Given the description of an element on the screen output the (x, y) to click on. 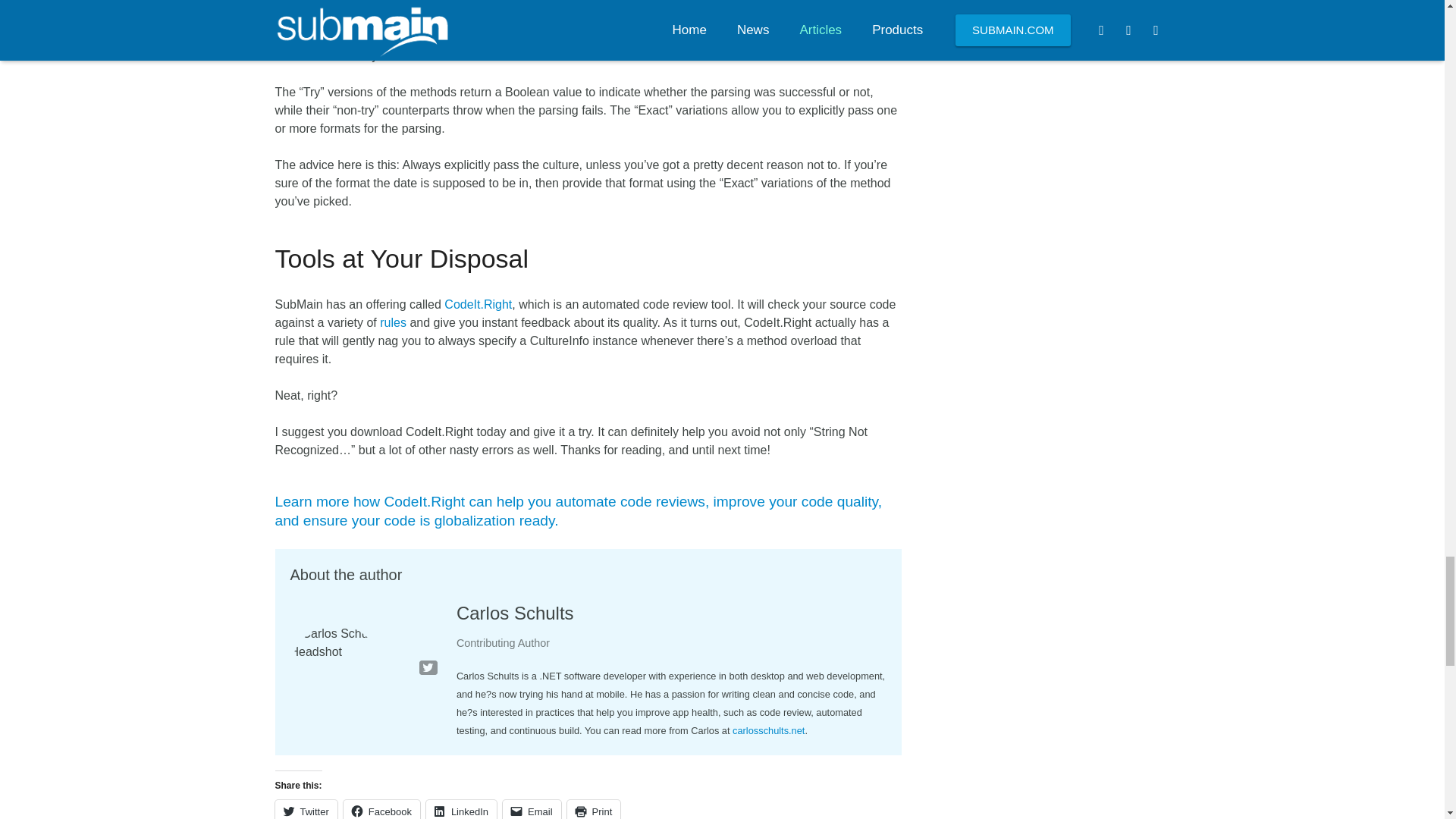
Click to print (594, 809)
Facebook (381, 809)
Click to email a link to a friend (531, 809)
rules (393, 322)
LinkedIn (461, 809)
Print (594, 809)
Click to share on LinkedIn (461, 809)
Email (531, 809)
Click to share on Facebook (381, 809)
carlosschults.net (768, 730)
